Given the description of an element on the screen output the (x, y) to click on. 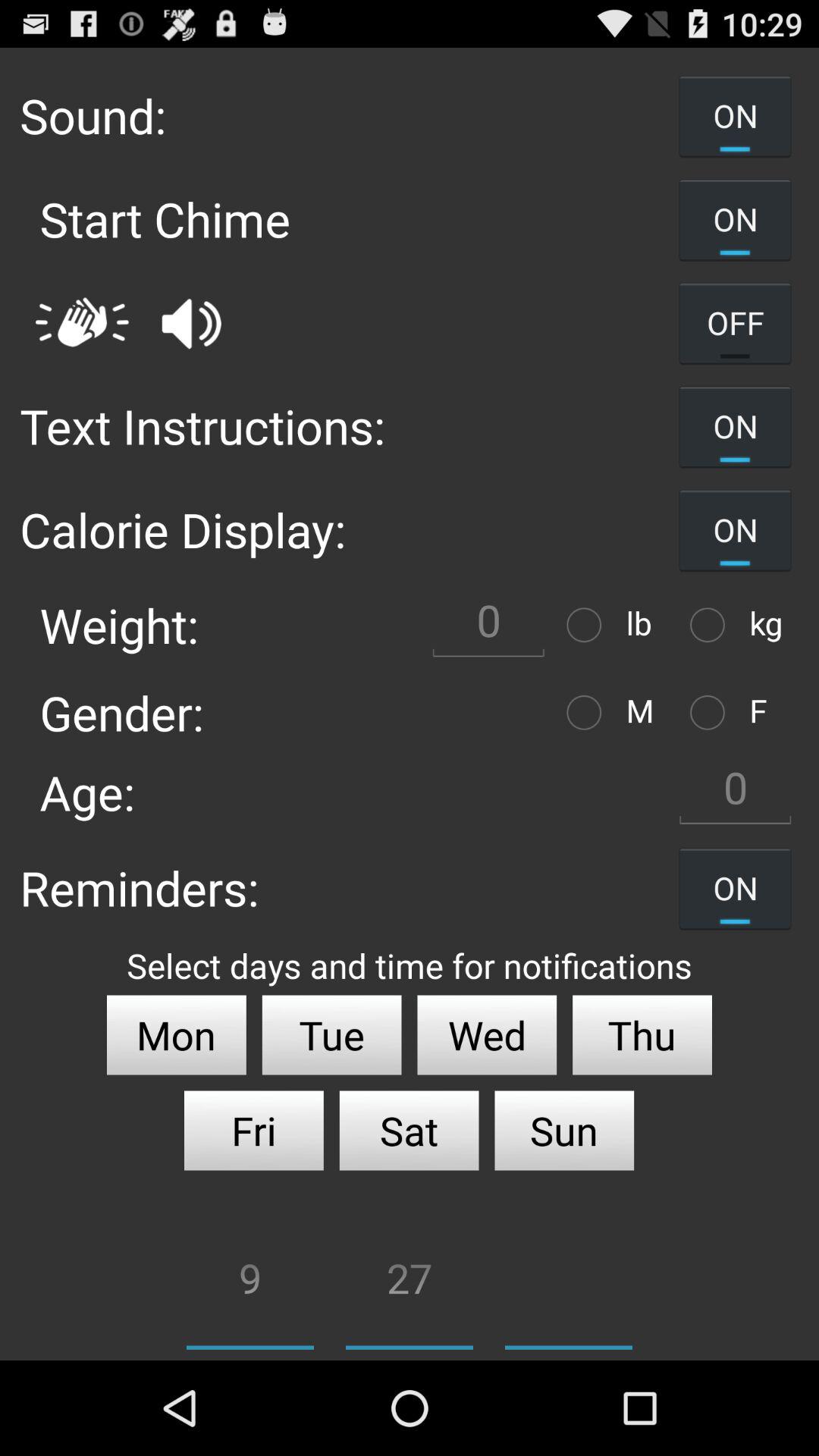
option to select male (587, 712)
